Given the description of an element on the screen output the (x, y) to click on. 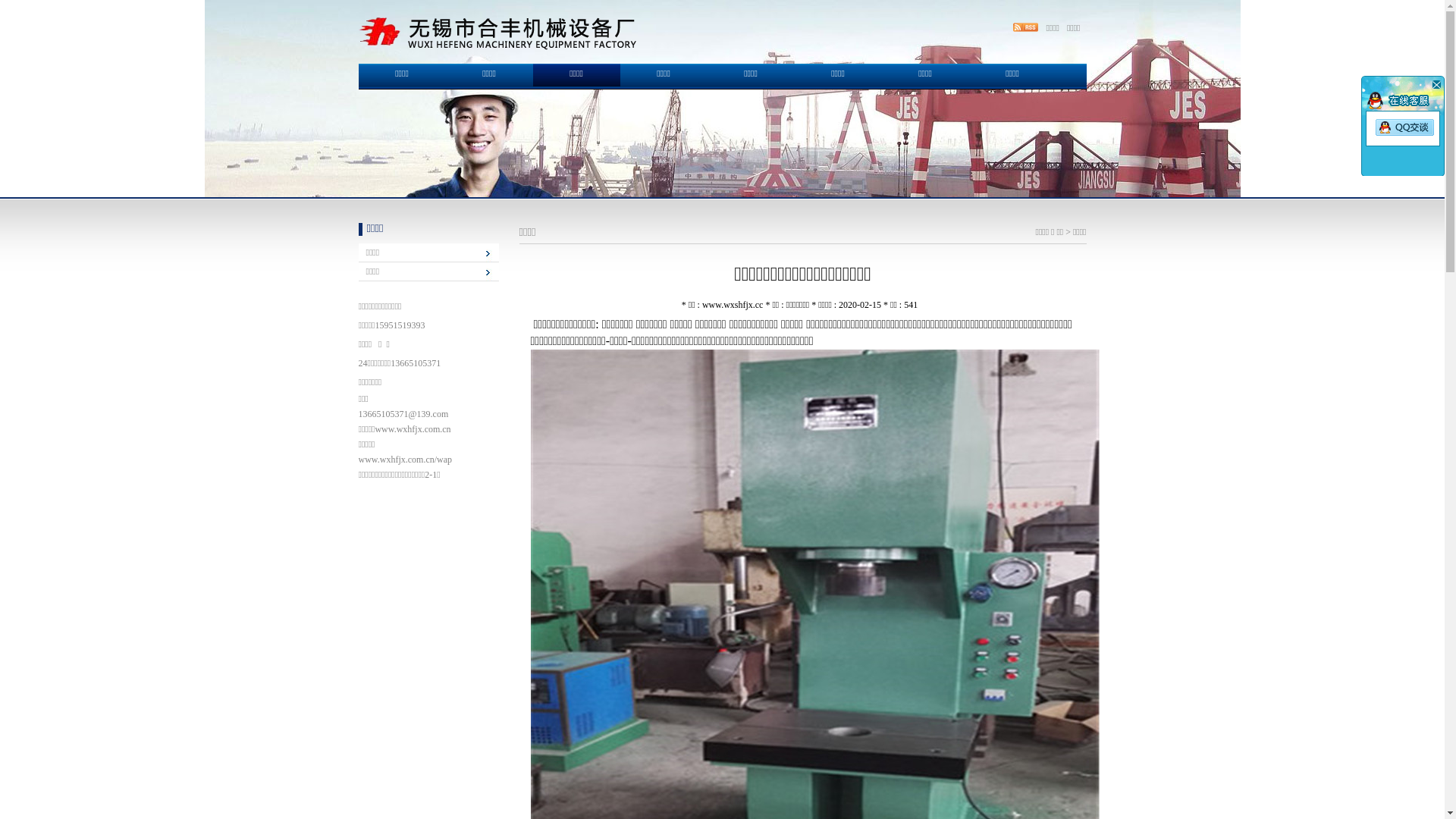
www.wxhfjx.com.cn Element type: text (412, 428)
  Element type: text (1435, 84)
www.wxhfjx.com.cn/wap Element type: text (404, 459)
